Given the description of an element on the screen output the (x, y) to click on. 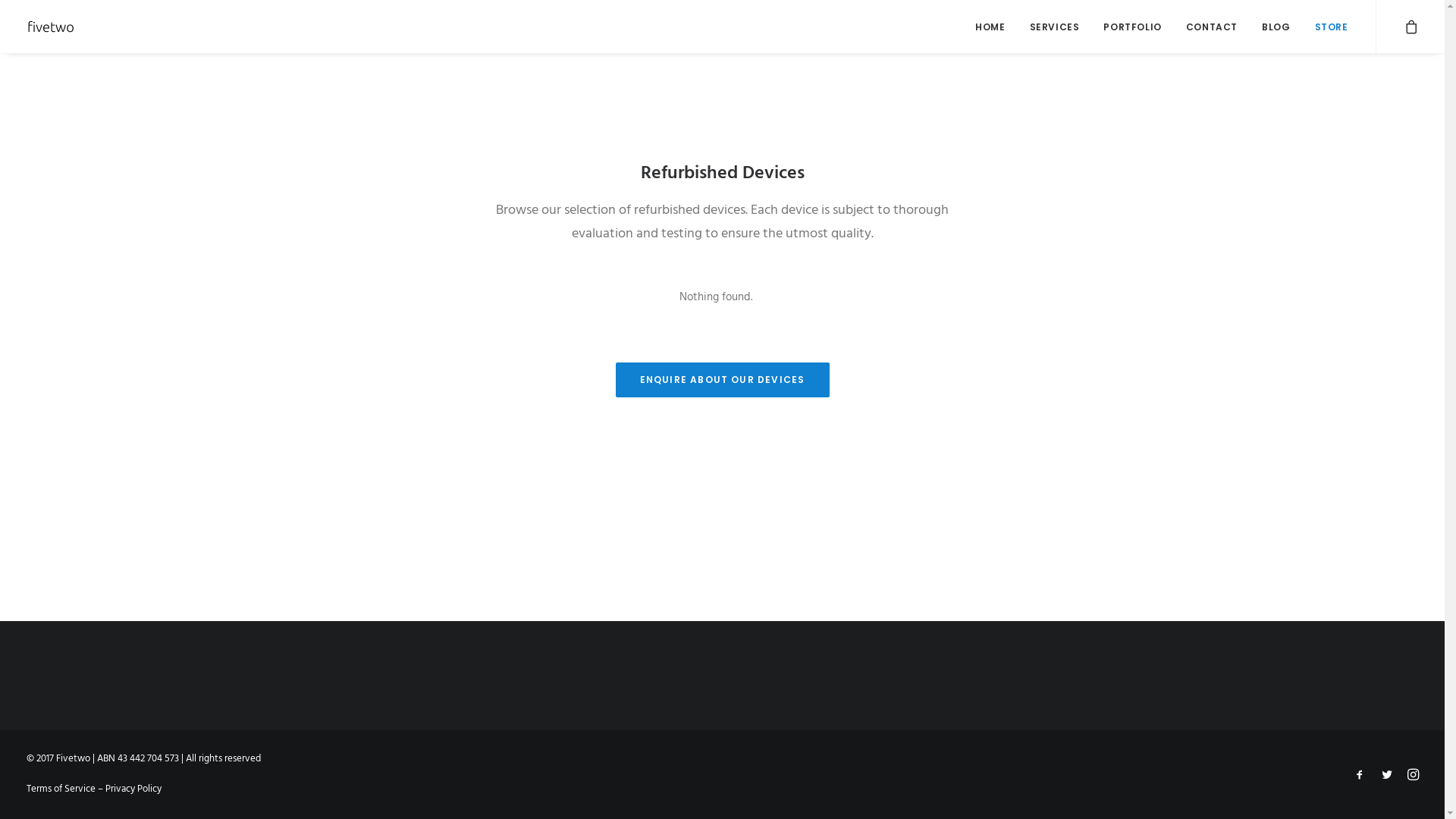
Terms of Service Element type: text (59, 789)
SERVICES Element type: text (1054, 26)
cart Element type: hover (1410, 26)
CONTACT Element type: text (1211, 26)
HOME Element type: text (989, 26)
STORE Element type: text (1326, 26)
ENQUIRE ABOUT OUR DEVICES Element type: text (722, 379)
PORTFOLIO Element type: text (1131, 26)
BLOG Element type: text (1275, 26)
Privacy Policy Element type: text (132, 789)
